Given the description of an element on the screen output the (x, y) to click on. 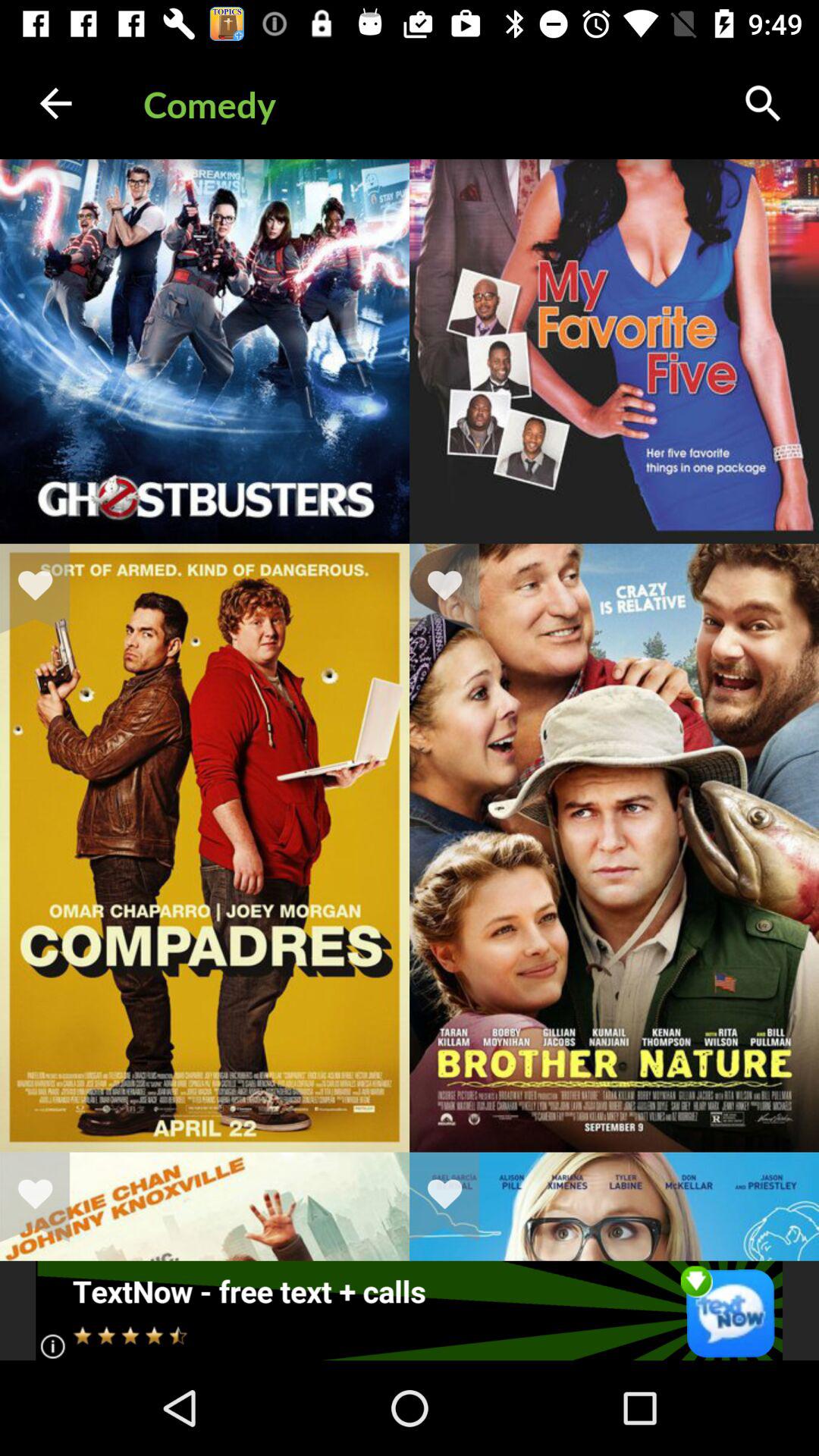
give like (454, 1197)
